Given the description of an element on the screen output the (x, y) to click on. 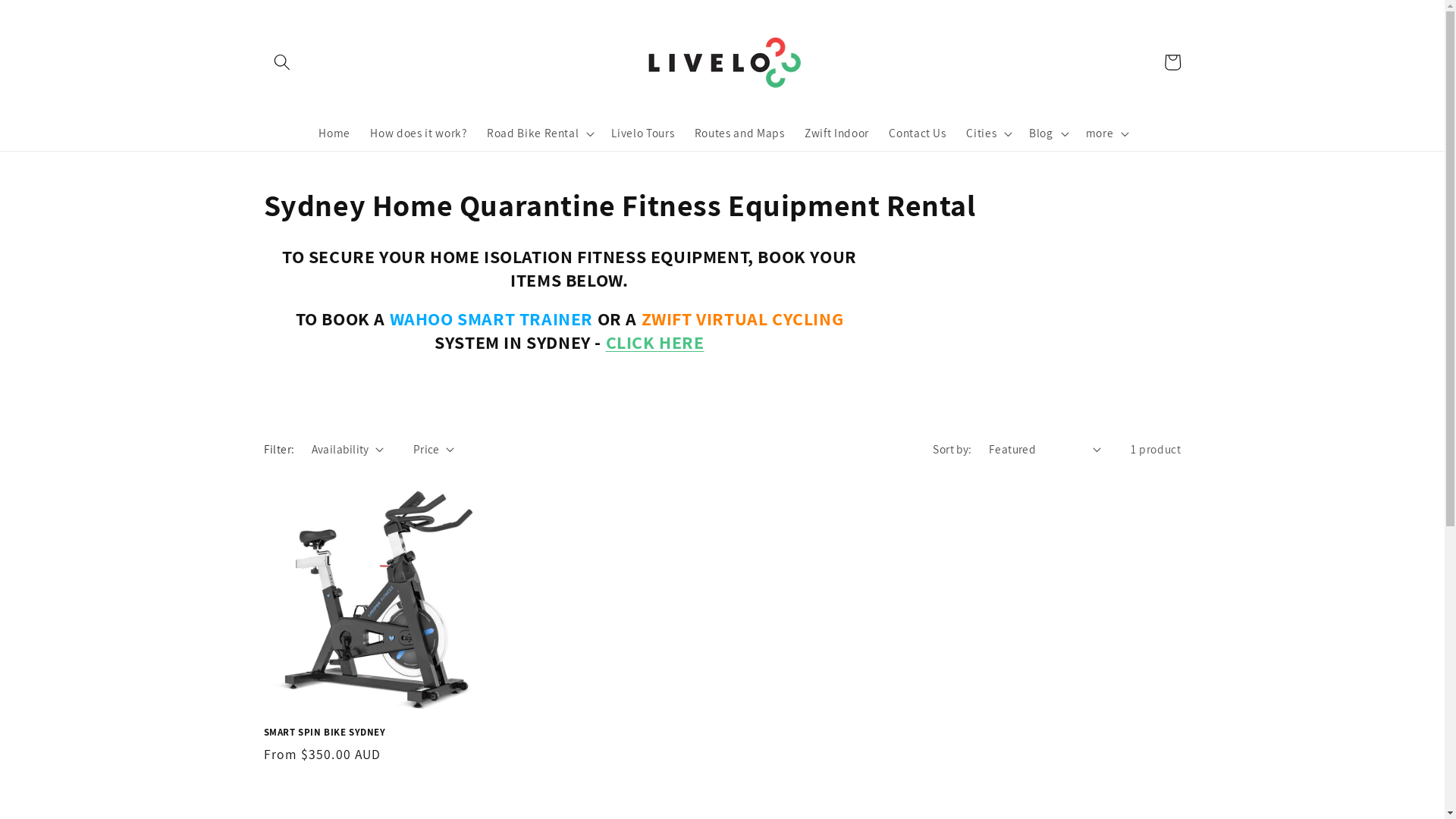
CLICK HERE Element type: text (654, 341)
Contact Us Element type: text (917, 133)
SMART SPIN BIKE SYDNEY Element type: text (376, 732)
Zwift Indoor Element type: text (836, 133)
Cart Element type: text (1172, 61)
How does it work? Element type: text (418, 133)
Home Element type: text (334, 133)
Routes and Maps Element type: text (738, 133)
Livelo Tours Element type: text (642, 133)
